Given the description of an element on the screen output the (x, y) to click on. 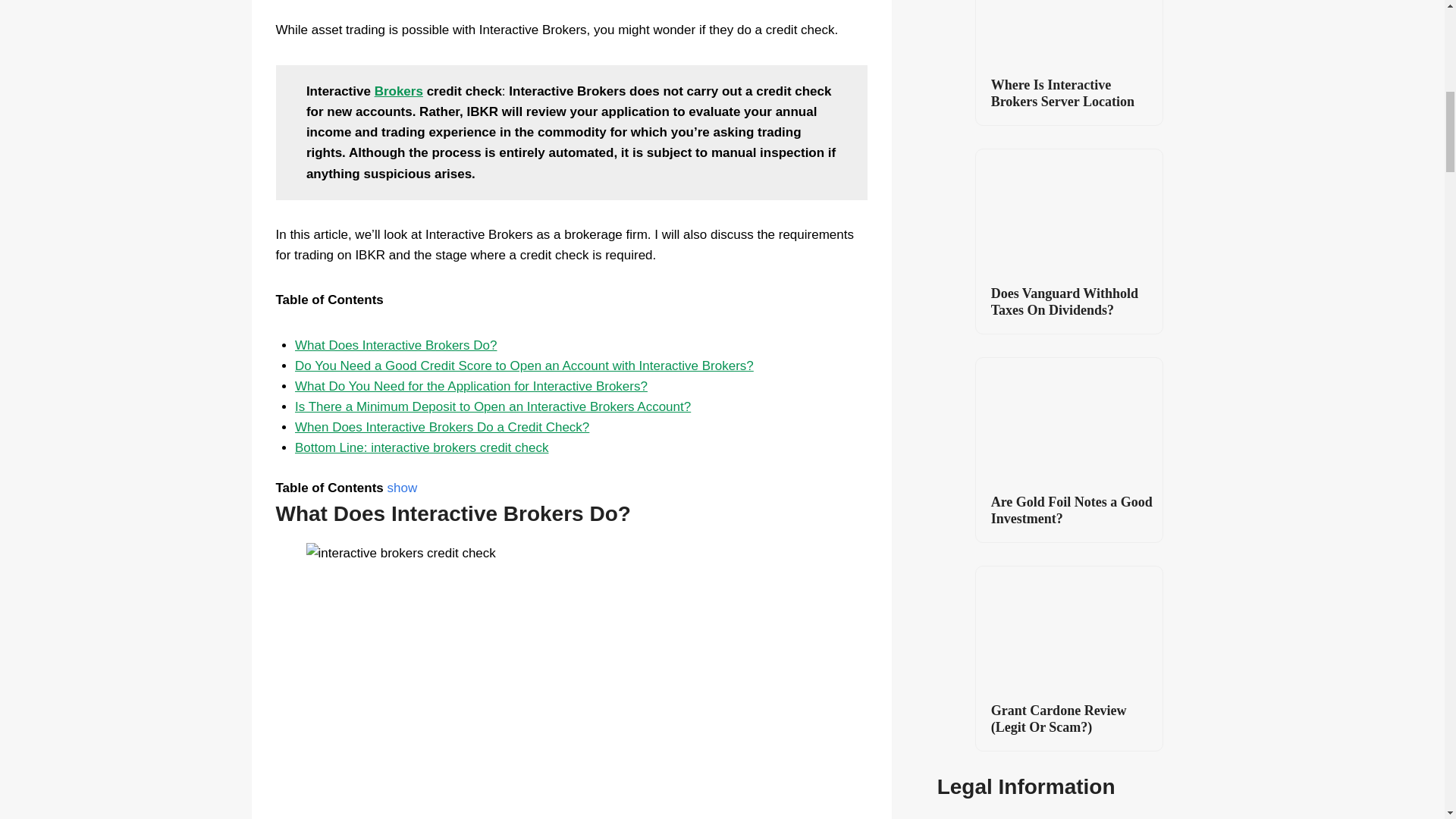
show (402, 487)
Brokers (398, 91)
When Does Interactive Brokers Do a Credit Check? (442, 427)
Does Vanguard Withhold Taxes On Dividends? 11 (1068, 211)
Where Is Interactive Brokers Server Location 10 (1068, 33)
Bottom Line: interactive brokers credit check (421, 447)
Are Gold Foil Notes a Good Investment? 12 (1068, 419)
What Does Interactive Brokers Do? (395, 345)
